Given the description of an element on the screen output the (x, y) to click on. 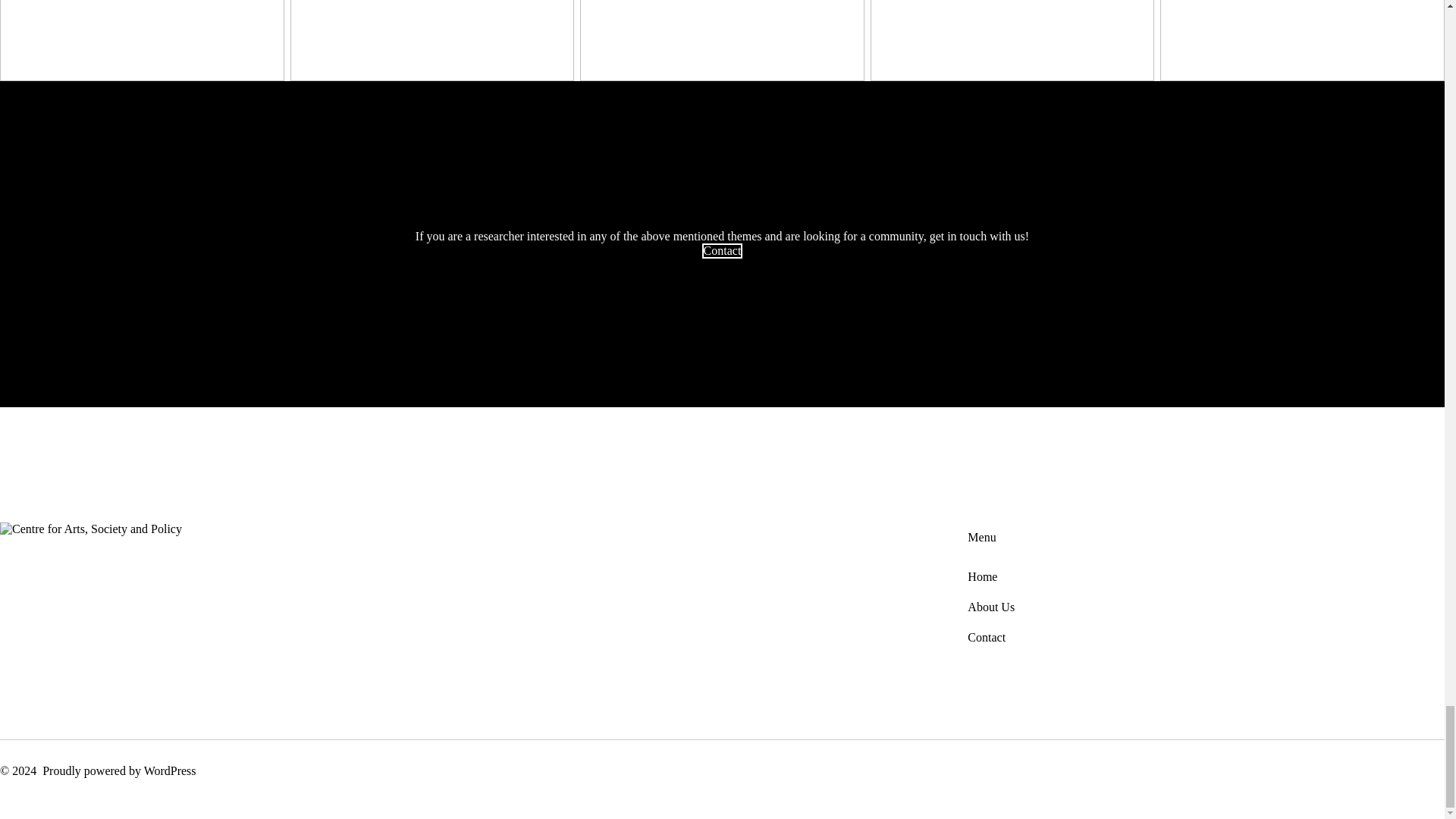
Home (982, 576)
Contact (987, 636)
About Us (991, 606)
Contact (721, 250)
